Given the description of an element on the screen output the (x, y) to click on. 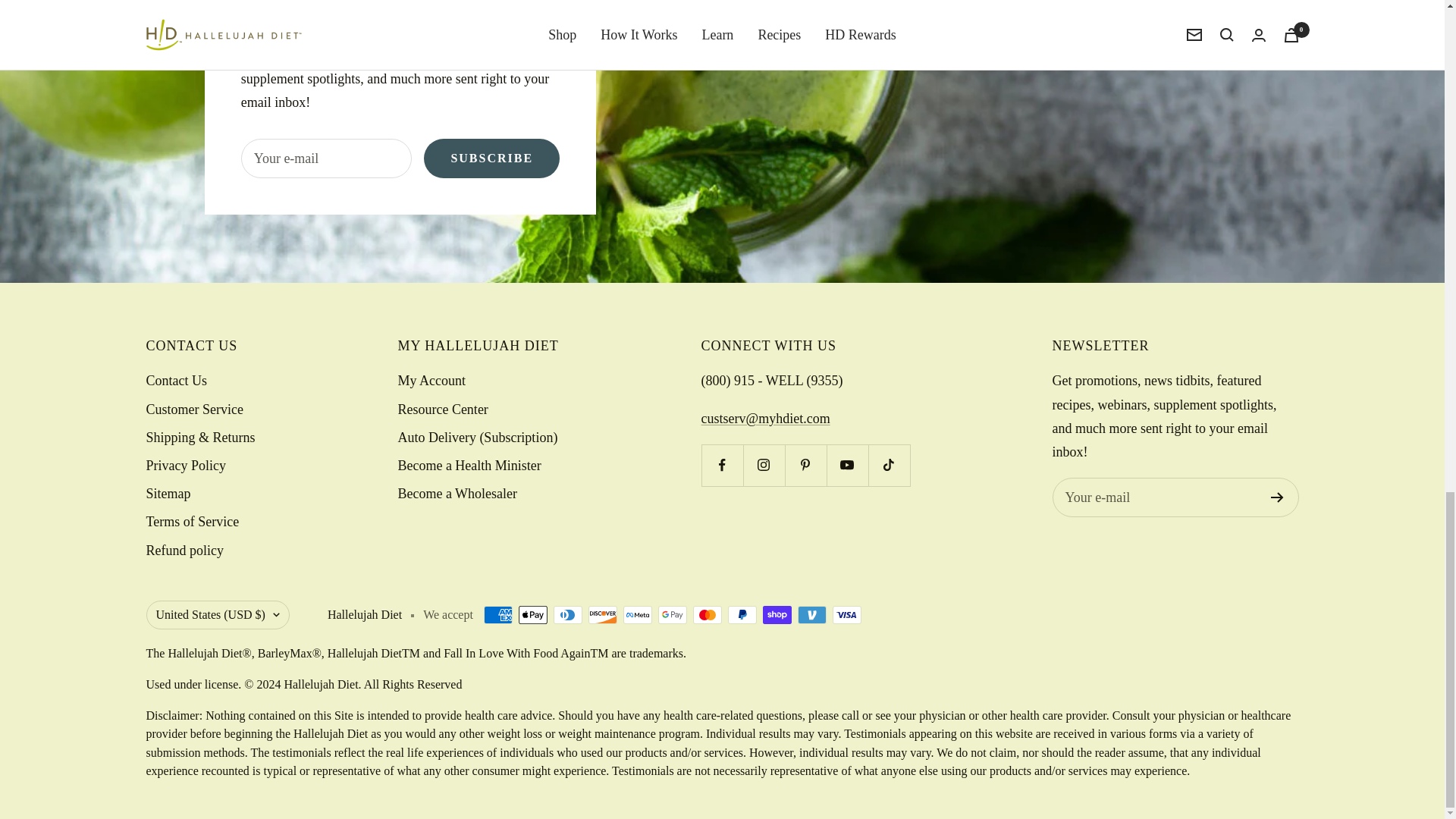
Register (1277, 497)
